Given the description of an element on the screen output the (x, y) to click on. 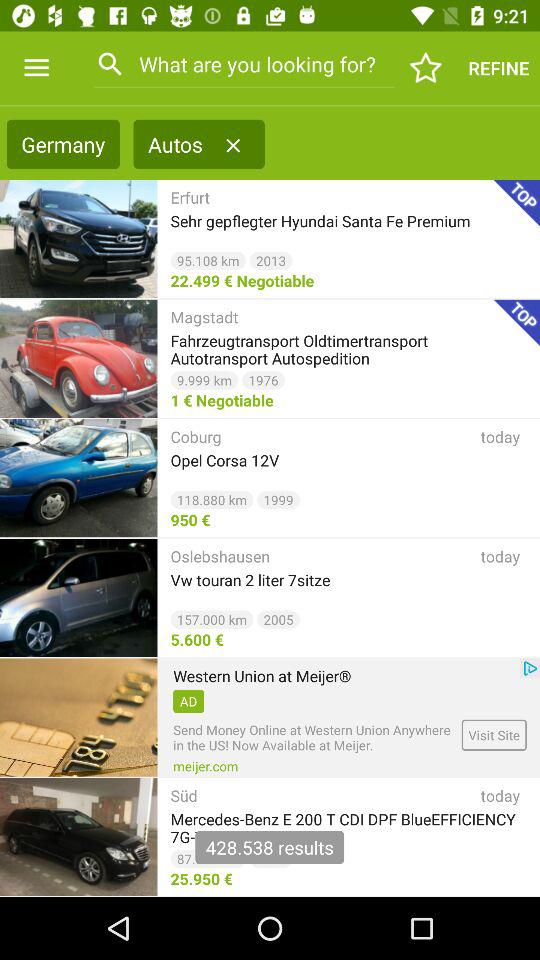
select the text which is above the ad (261, 676)
